Given the description of an element on the screen output the (x, y) to click on. 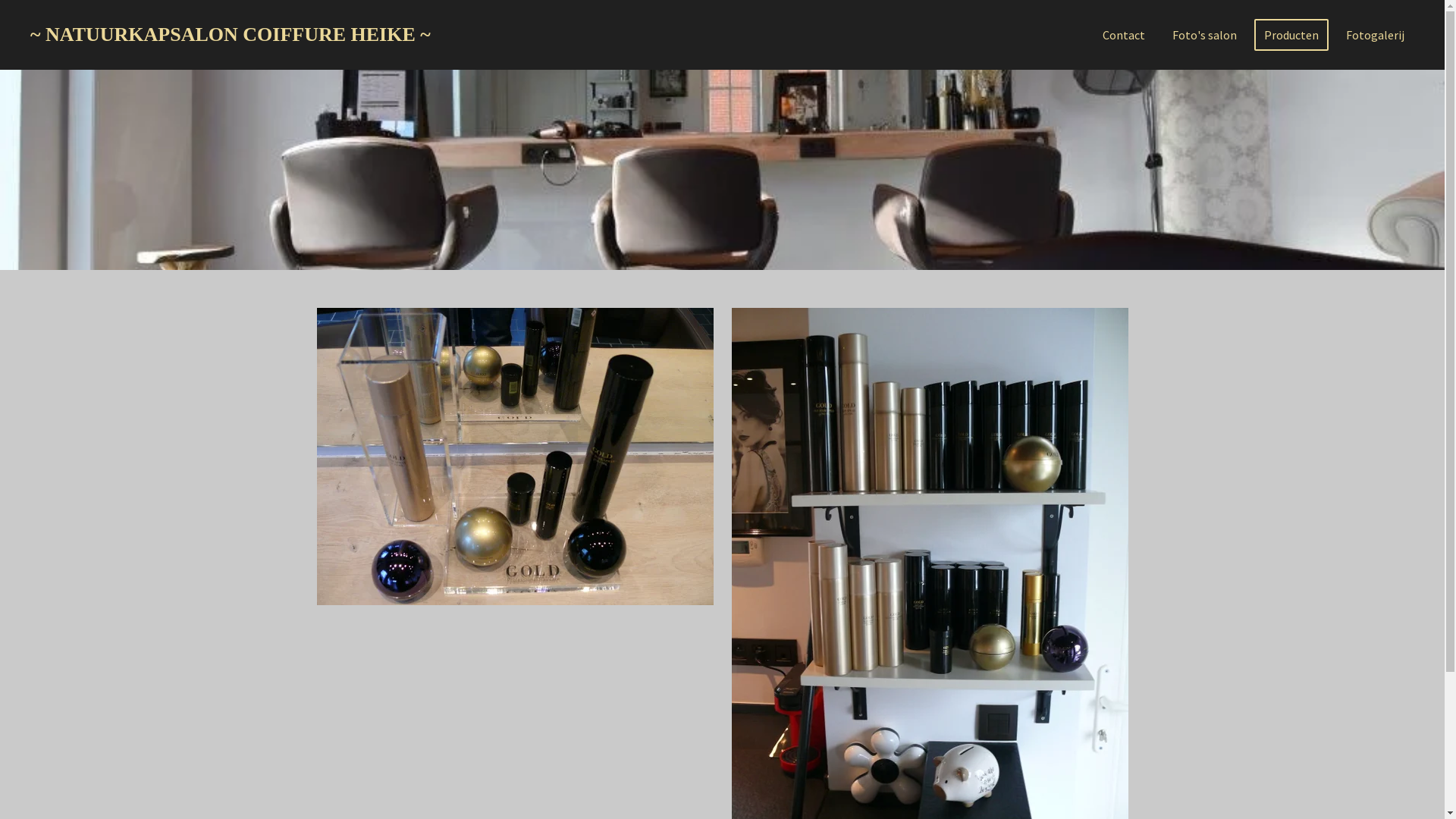
Foto's salon Element type: text (1204, 34)
Producten Element type: text (1291, 34)
Fotogalerij Element type: text (1375, 34)
Contact Element type: text (1123, 34)
~ NATUURKAPSALON COIFFURE HEIKE ~ Element type: text (230, 34)
